Given the description of an element on the screen output the (x, y) to click on. 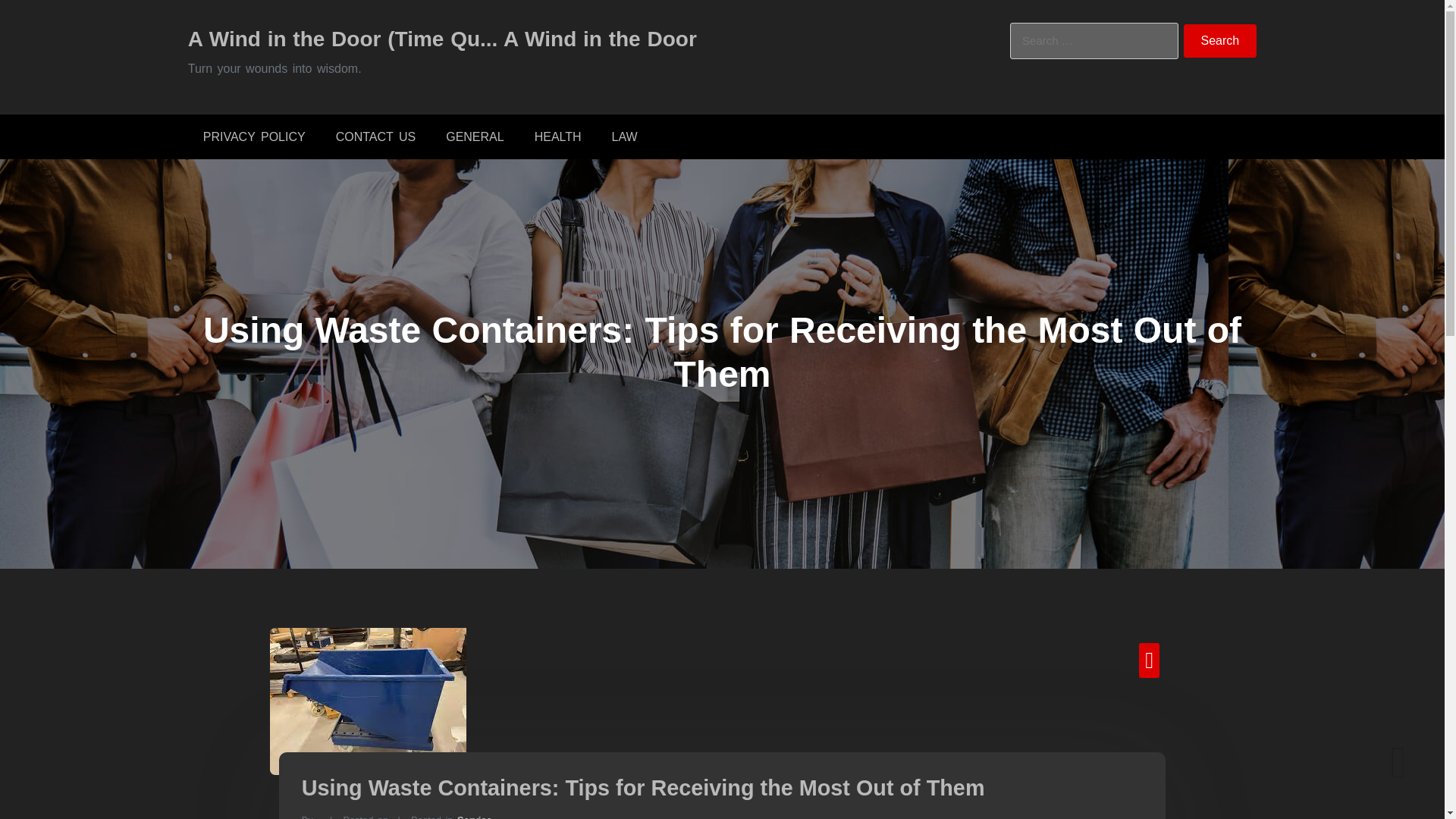
HEALTH (557, 136)
Search (1220, 40)
GENERAL (474, 136)
Search (1220, 40)
LAW (624, 136)
Service (474, 816)
PRIVACY POLICY (253, 136)
Search (1220, 40)
CONTACT US (375, 136)
